Given the description of an element on the screen output the (x, y) to click on. 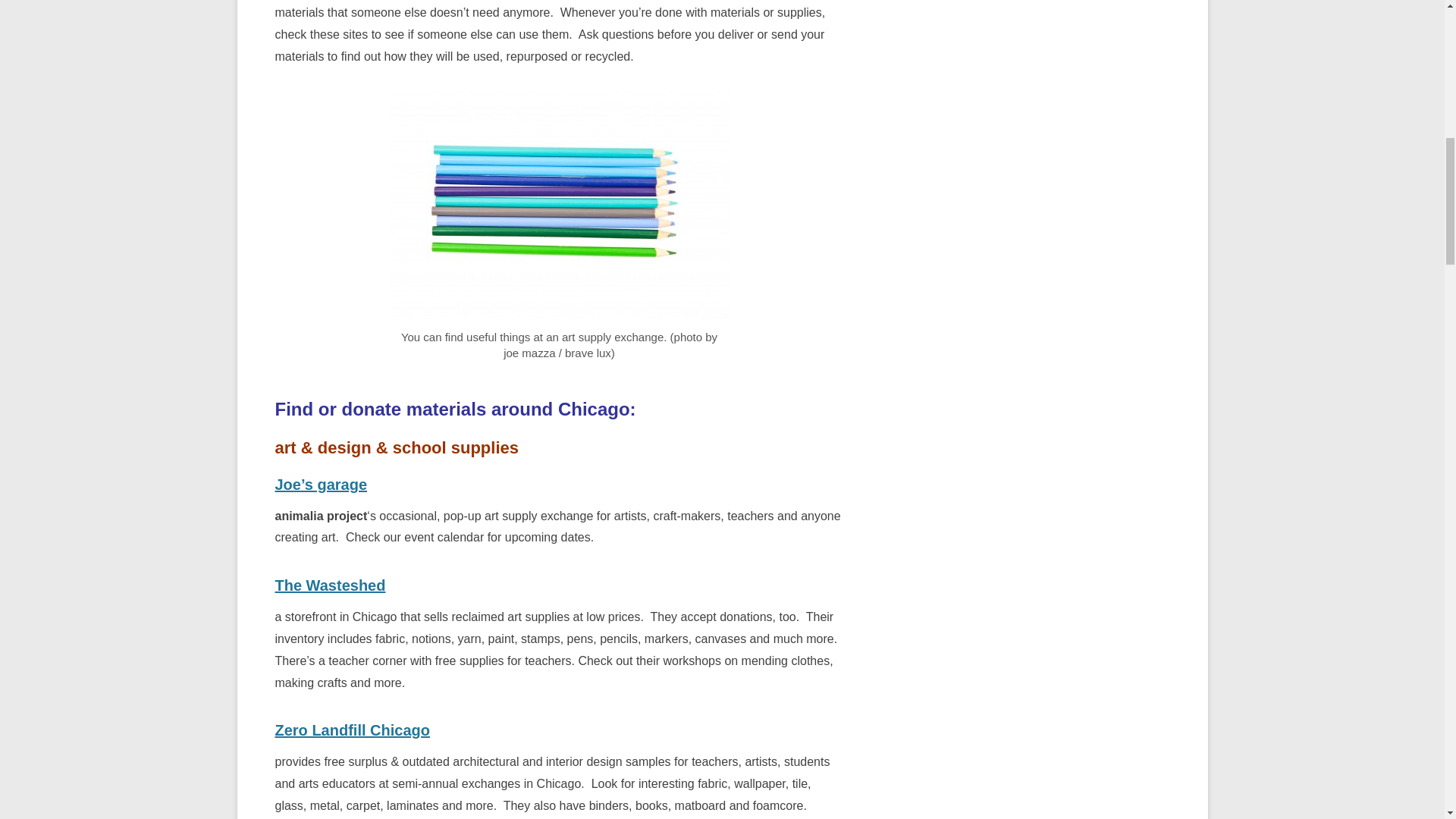
Zero Landfill Chicago (352, 729)
The Wasteshed (330, 585)
